Given the description of an element on the screen output the (x, y) to click on. 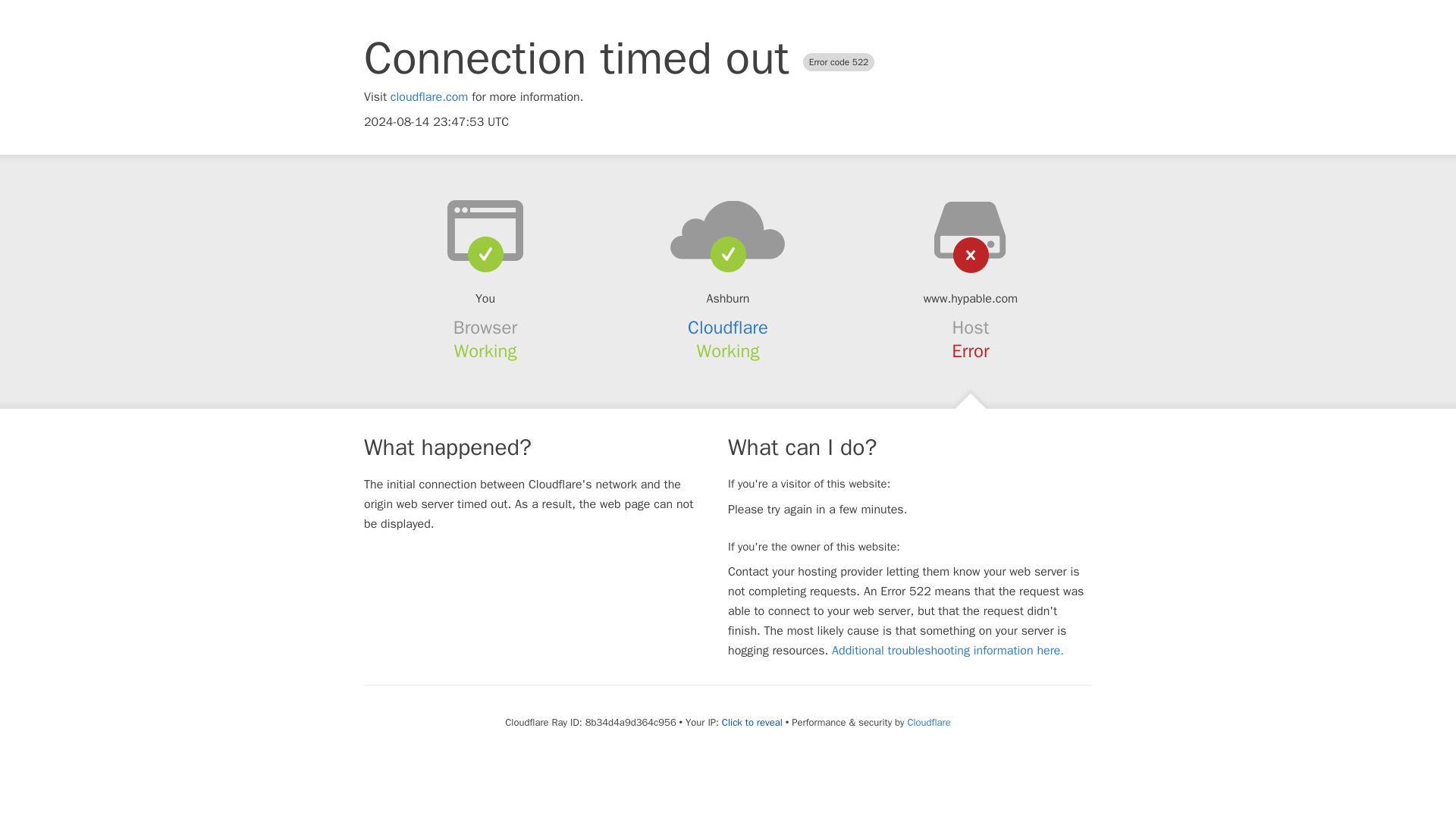
Cloudflare (727, 327)
cloudflare.com (429, 96)
Cloudflare (928, 721)
Click to reveal (752, 722)
Additional troubleshooting information here. (947, 650)
